Given the description of an element on the screen output the (x, y) to click on. 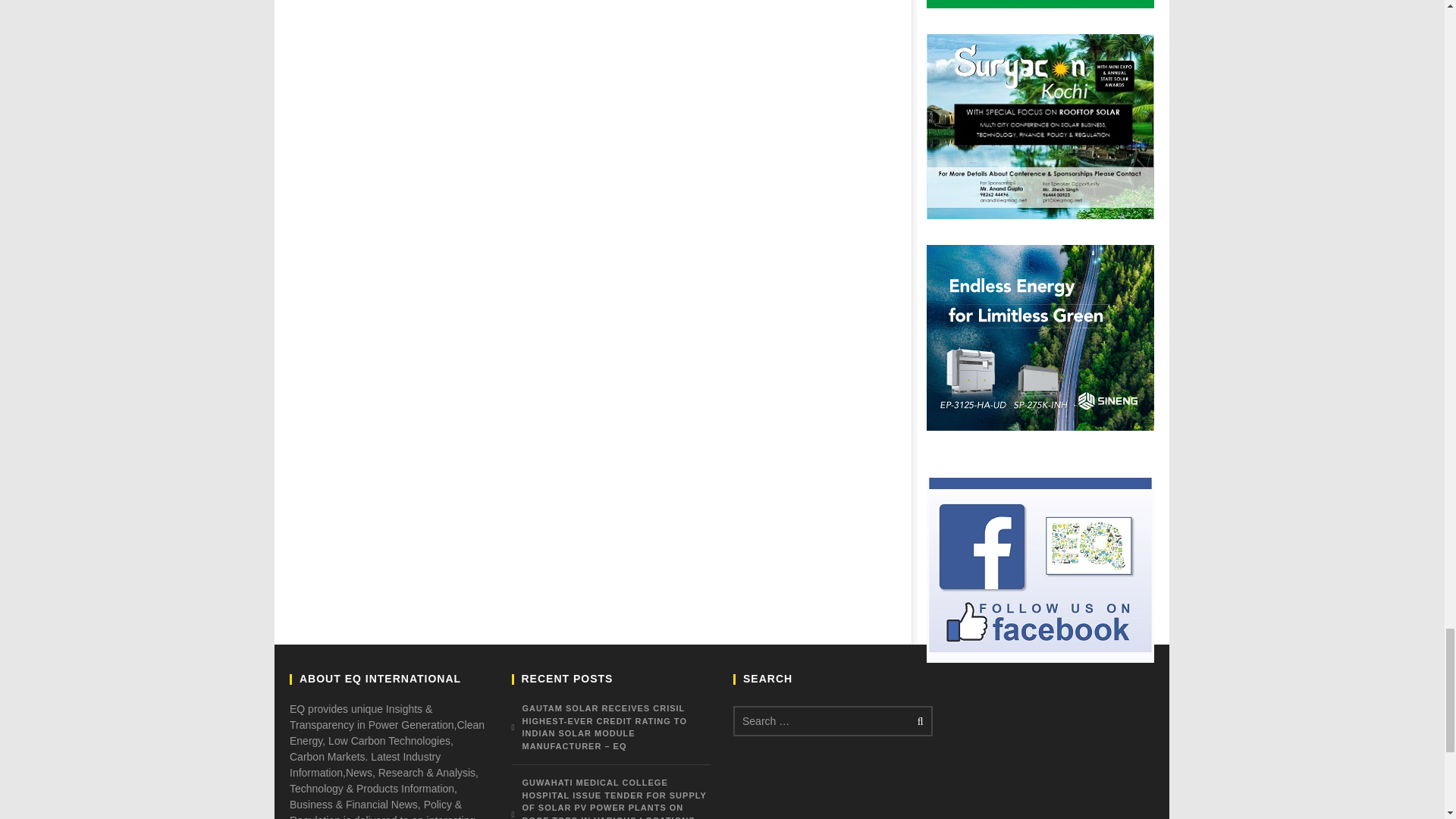
Search (917, 720)
Search (917, 720)
